Given the description of an element on the screen output the (x, y) to click on. 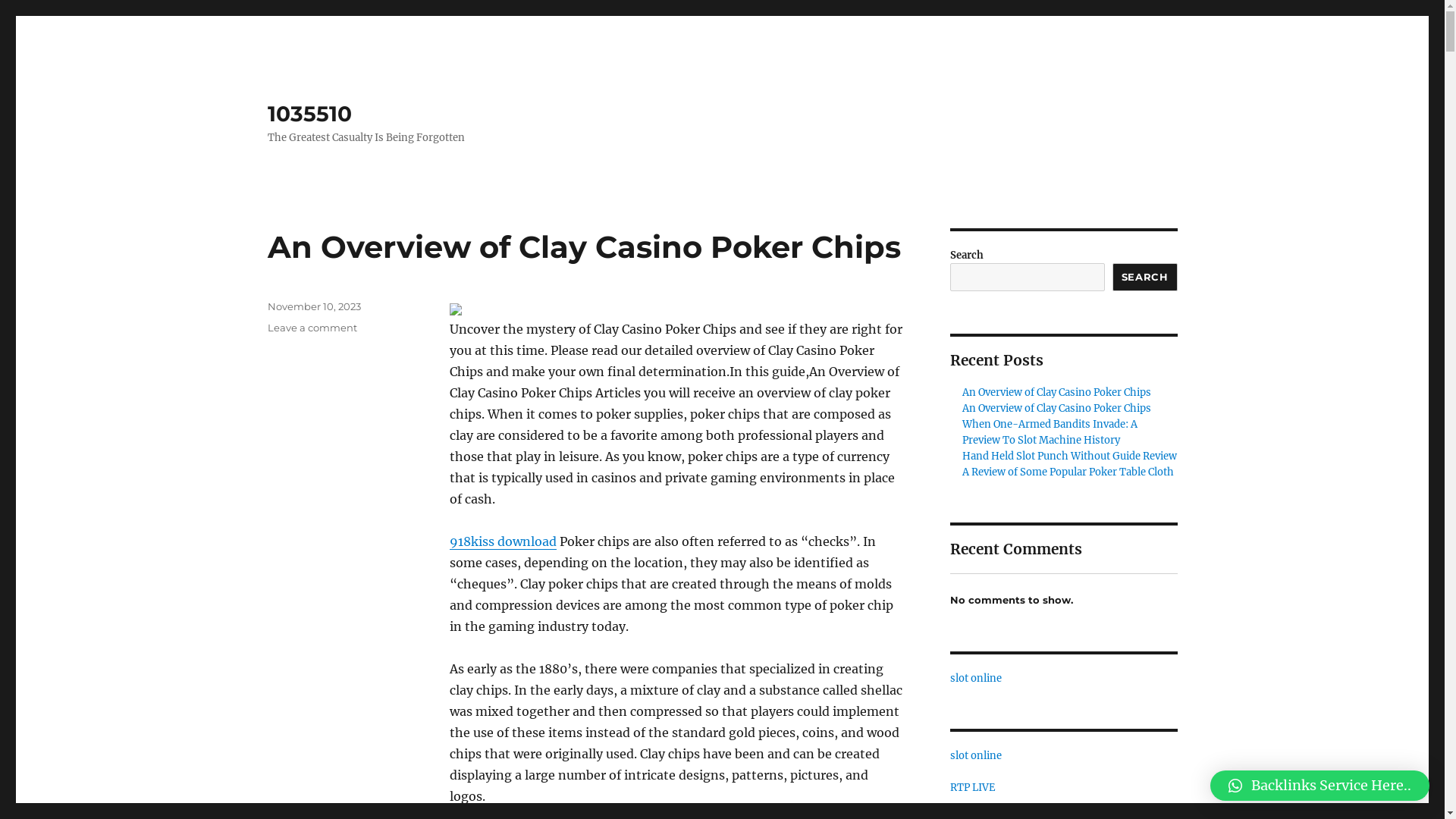
November 10, 2023 Element type: text (313, 306)
A Review of Some Popular Poker Table Cloth Element type: text (1067, 471)
Leave a comment
on An Overview of Clay Casino Poker Chips Element type: text (311, 327)
Backlinks Service Here.. Element type: text (1319, 785)
SEARCH Element type: text (1144, 277)
RTP LIVE Element type: text (971, 787)
slot online Element type: text (975, 677)
918kiss download Element type: text (501, 541)
An Overview of Clay Casino Poker Chips Element type: text (583, 246)
An Overview of Clay Casino Poker Chips Element type: text (1056, 407)
Hand Held Slot Punch Without Guide Review Element type: text (1069, 455)
An Overview of Clay Casino Poker Chips Element type: text (1056, 391)
slot online Element type: text (975, 755)
1035510 Element type: text (308, 113)
